Given the description of an element on the screen output the (x, y) to click on. 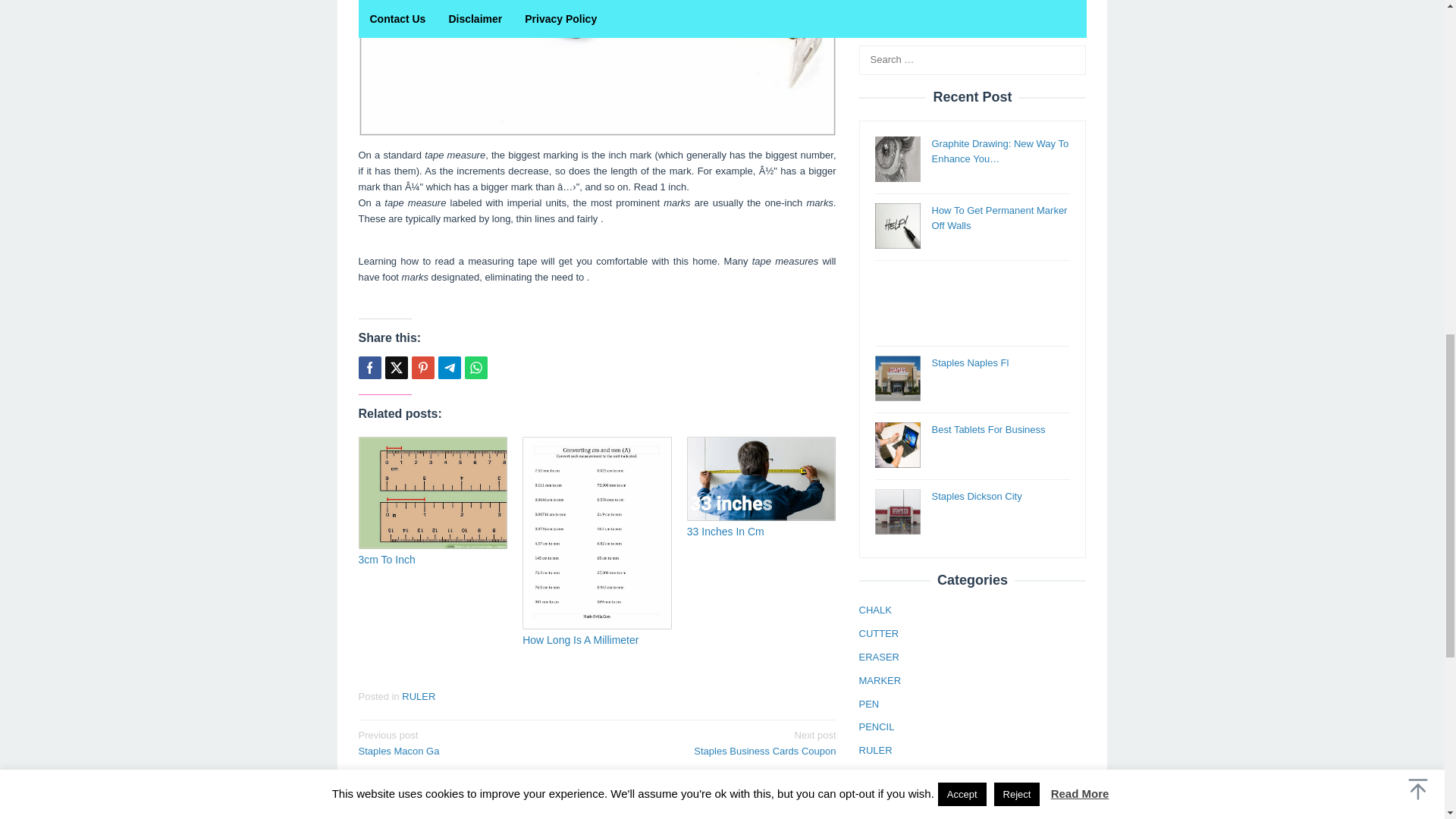
Telegram Share (449, 367)
Permalink to: 3cm To Inch (386, 559)
PEN (869, 16)
SCISSOR (880, 86)
RULER (875, 62)
3cm To Inch (386, 559)
RULER (418, 696)
33 Inches In Cm (725, 531)
Pin this (421, 367)
How Long Is A Millimeter (580, 639)
Share this (369, 367)
PENCIL (876, 39)
Whatsapp (721, 742)
Tweet this (475, 367)
